Given the description of an element on the screen output the (x, y) to click on. 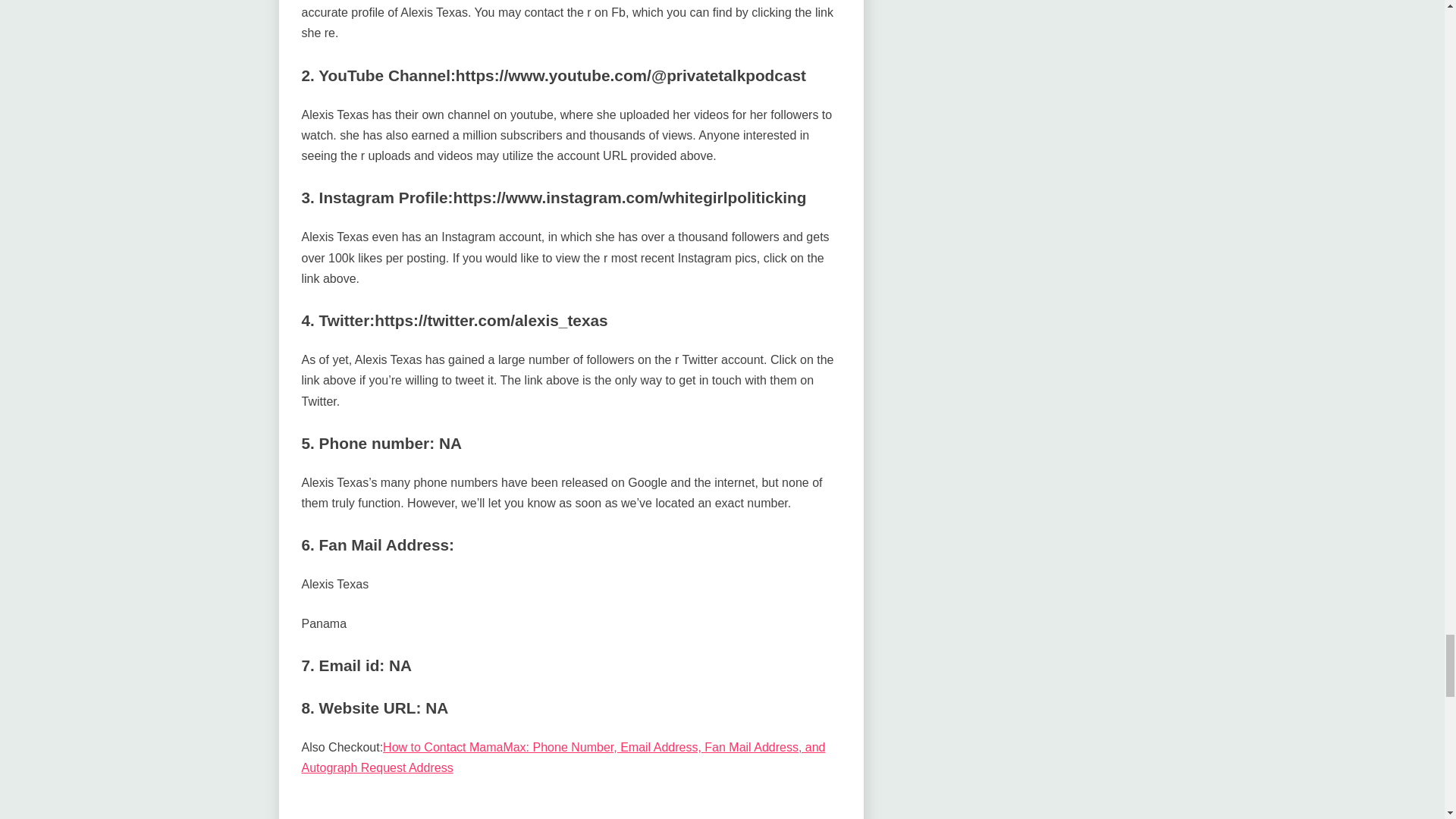
YouTube video player (570, 807)
